Given the description of an element on the screen output the (x, y) to click on. 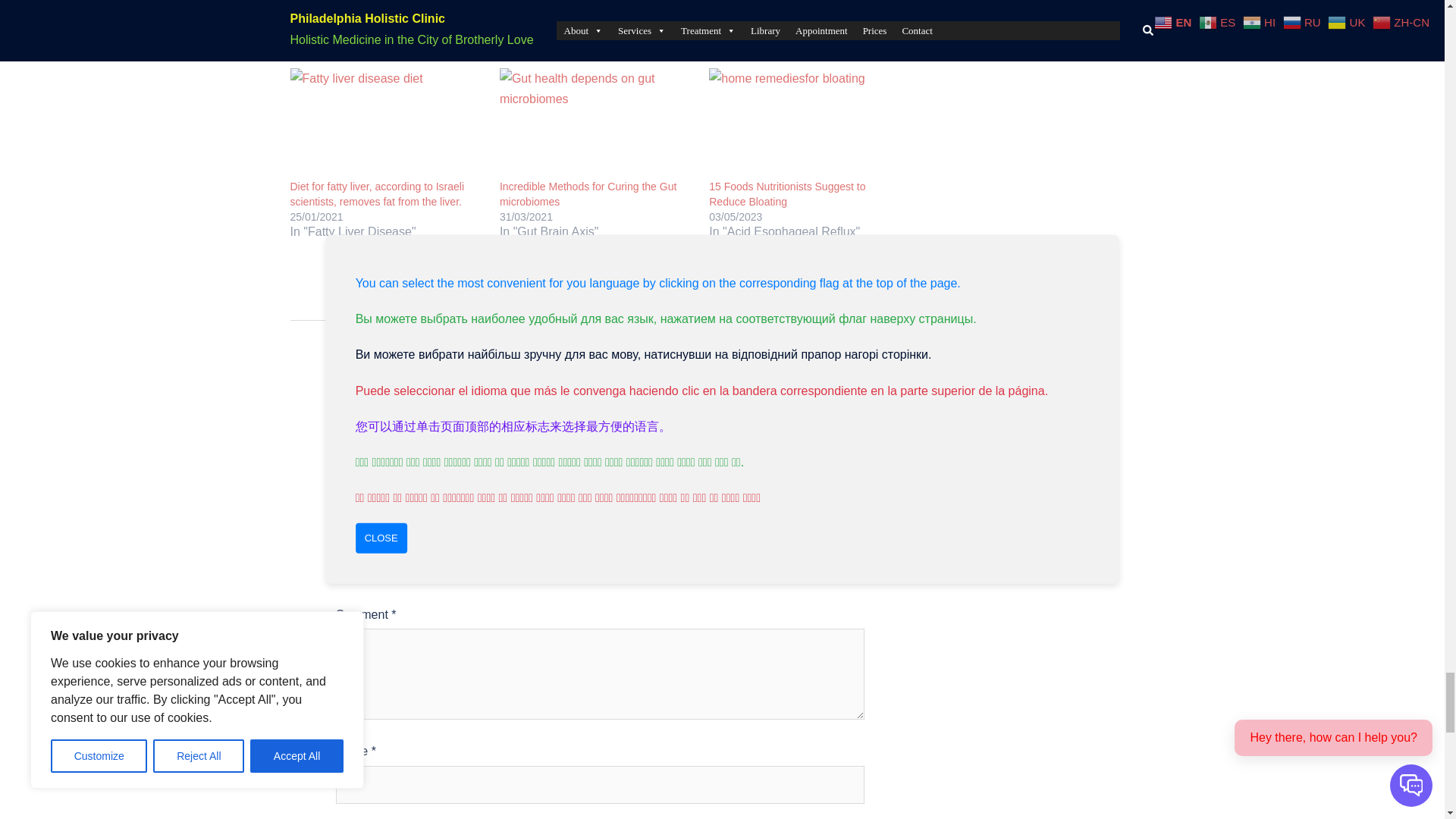
15 Foods Nutritionists Suggest to Reduce Bloating (786, 194)
Incredible Methods for Curing the Gut microbiomes (596, 123)
15 Foods Nutritionists Suggest to Reduce Bloating (805, 123)
Incredible Methods for Curing the Gut microbiomes (588, 194)
